Given the description of an element on the screen output the (x, y) to click on. 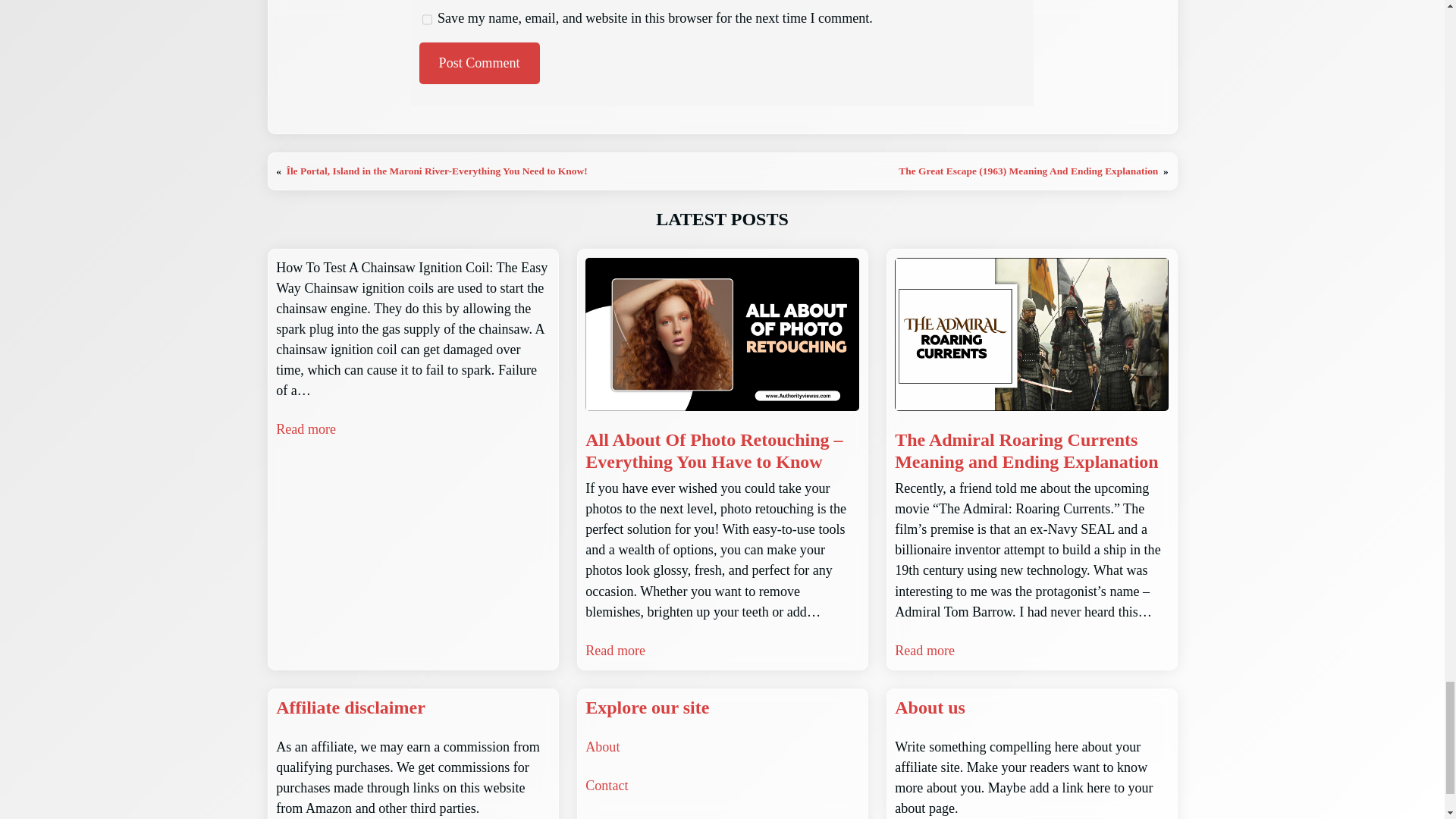
Post Comment (478, 63)
The Admiral Roaring Currents Meaning and Ending Explanation (1032, 451)
Read more (925, 650)
Read more (306, 429)
Sitemap (607, 817)
Read more (615, 650)
Contact (606, 785)
Post Comment (478, 63)
About (602, 746)
